Given the description of an element on the screen output the (x, y) to click on. 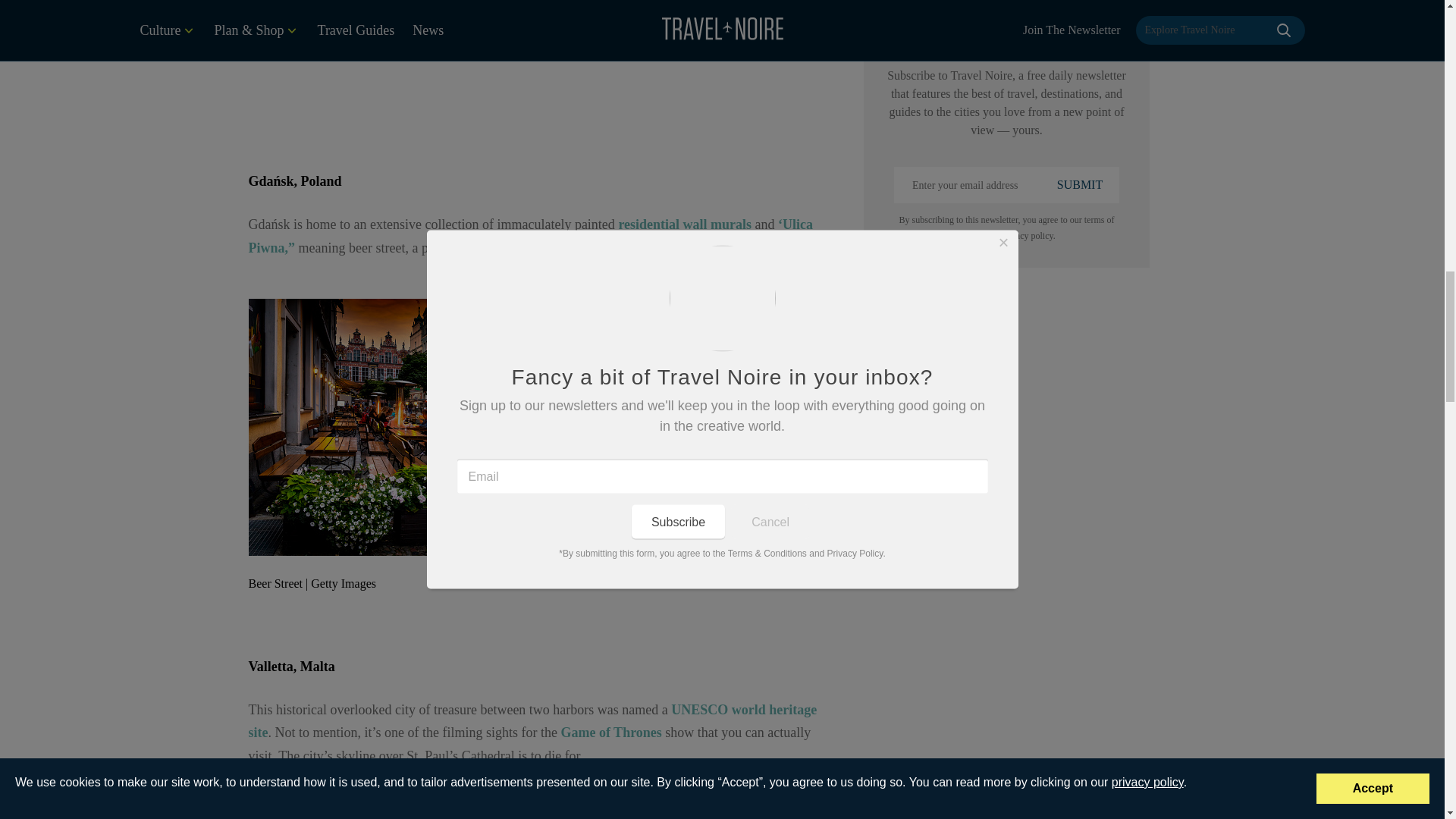
UNESCO world heritage site (532, 721)
Game of Thrones (610, 732)
residential wall murals (684, 224)
